Given the description of an element on the screen output the (x, y) to click on. 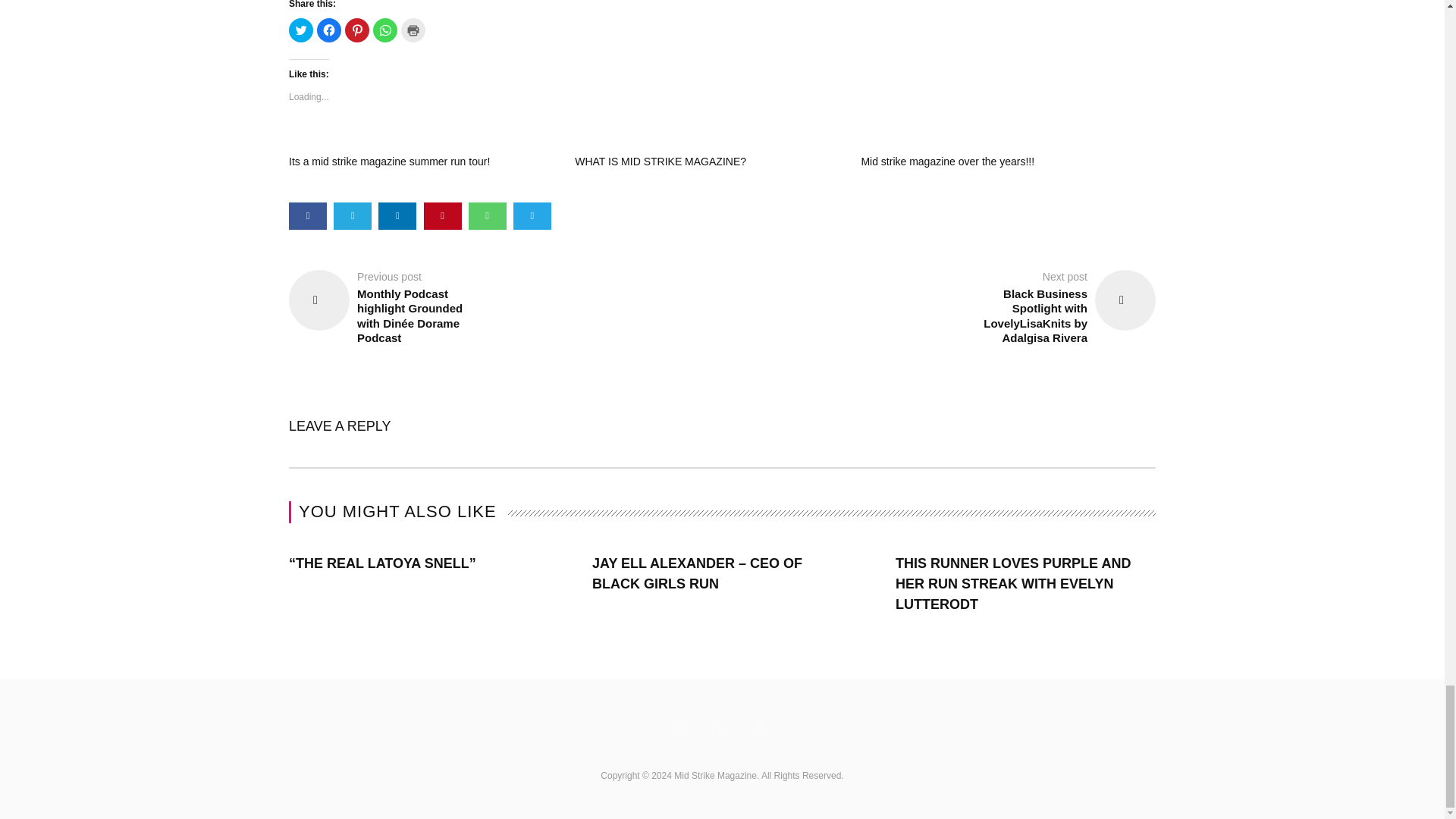
Click to print (413, 30)
Click to share on Pinterest (357, 30)
Click to share on WhatsApp (384, 30)
WHAT IS MID STRIKE MAGAZINE? (660, 161)
Mid strike magazine over the years!!! (946, 161)
WHAT IS MID STRIKE MAGAZINE? (660, 161)
Mid strike magazine over the years!!! (946, 161)
Click to share on Facebook (328, 30)
Click to share on Twitter (300, 30)
facebook (307, 216)
Its a mid strike magazine summer run tour! (388, 161)
Its a mid strike magazine summer run tour! (388, 161)
